Given the description of an element on the screen output the (x, y) to click on. 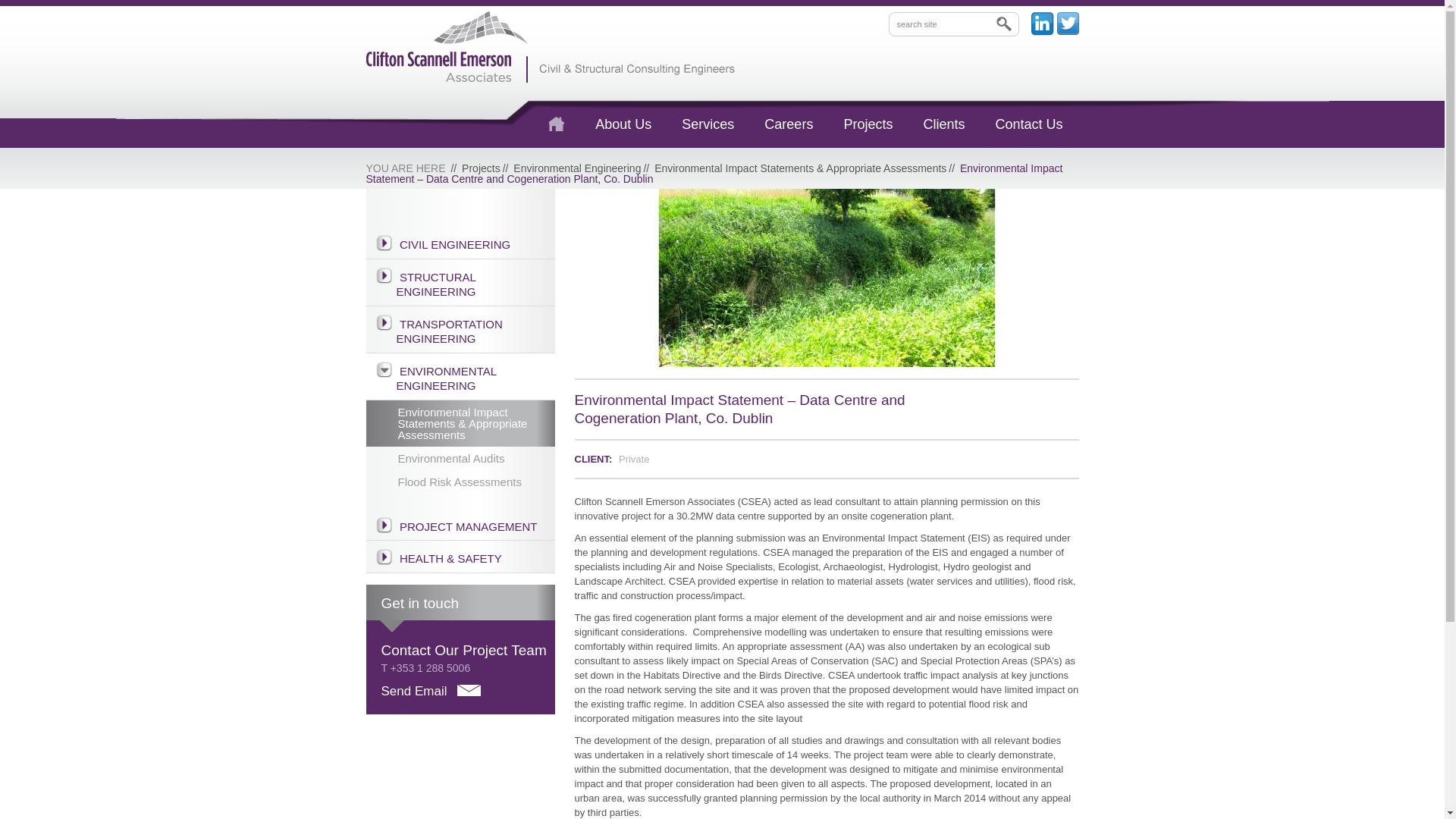
Home (556, 124)
About Us (622, 124)
Careers (788, 124)
Careers (788, 124)
About Us (622, 124)
Projects (867, 124)
search site (953, 24)
Services (707, 124)
Services (707, 124)
Home (556, 124)
